Given the description of an element on the screen output the (x, y) to click on. 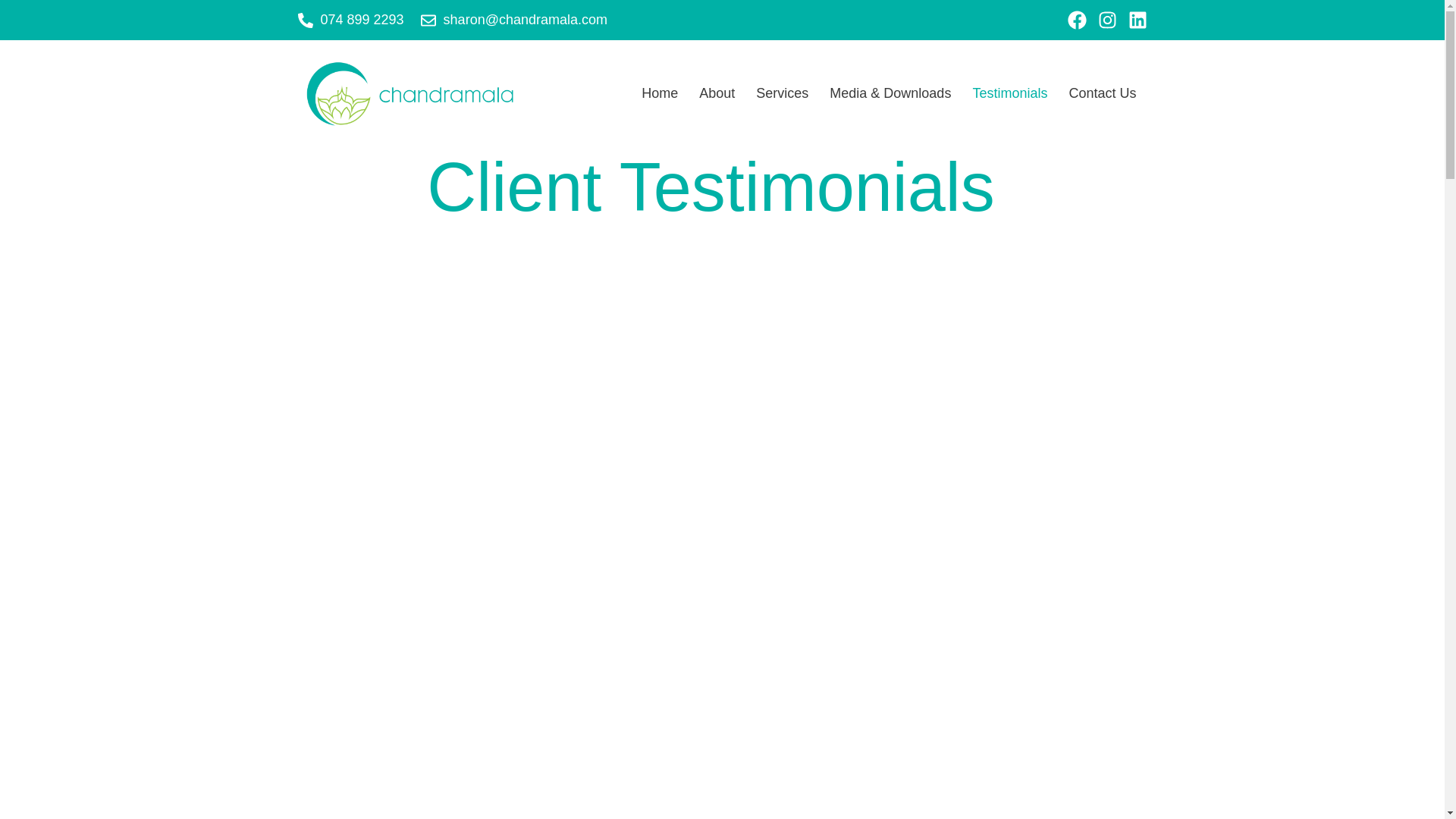
Services (781, 92)
About (716, 92)
Contact Us (1102, 92)
Testimonials (1009, 92)
Home (659, 92)
